Given the description of an element on the screen output the (x, y) to click on. 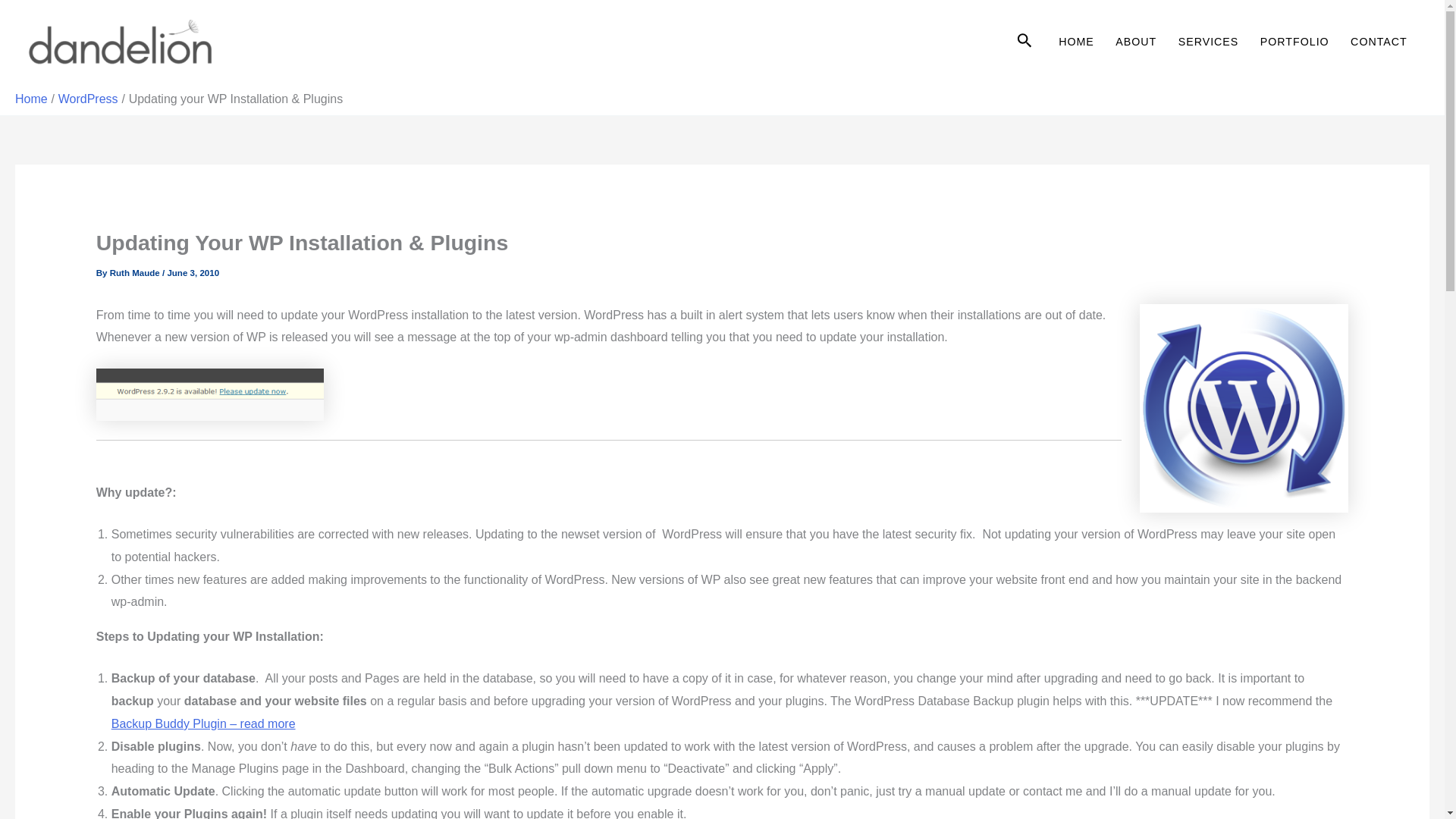
CONTACT (1378, 41)
PORTFOLIO (1294, 41)
Ruth Maude (135, 272)
Home (31, 98)
SERVICES (1208, 41)
WordPress (87, 98)
